Given the description of an element on the screen output the (x, y) to click on. 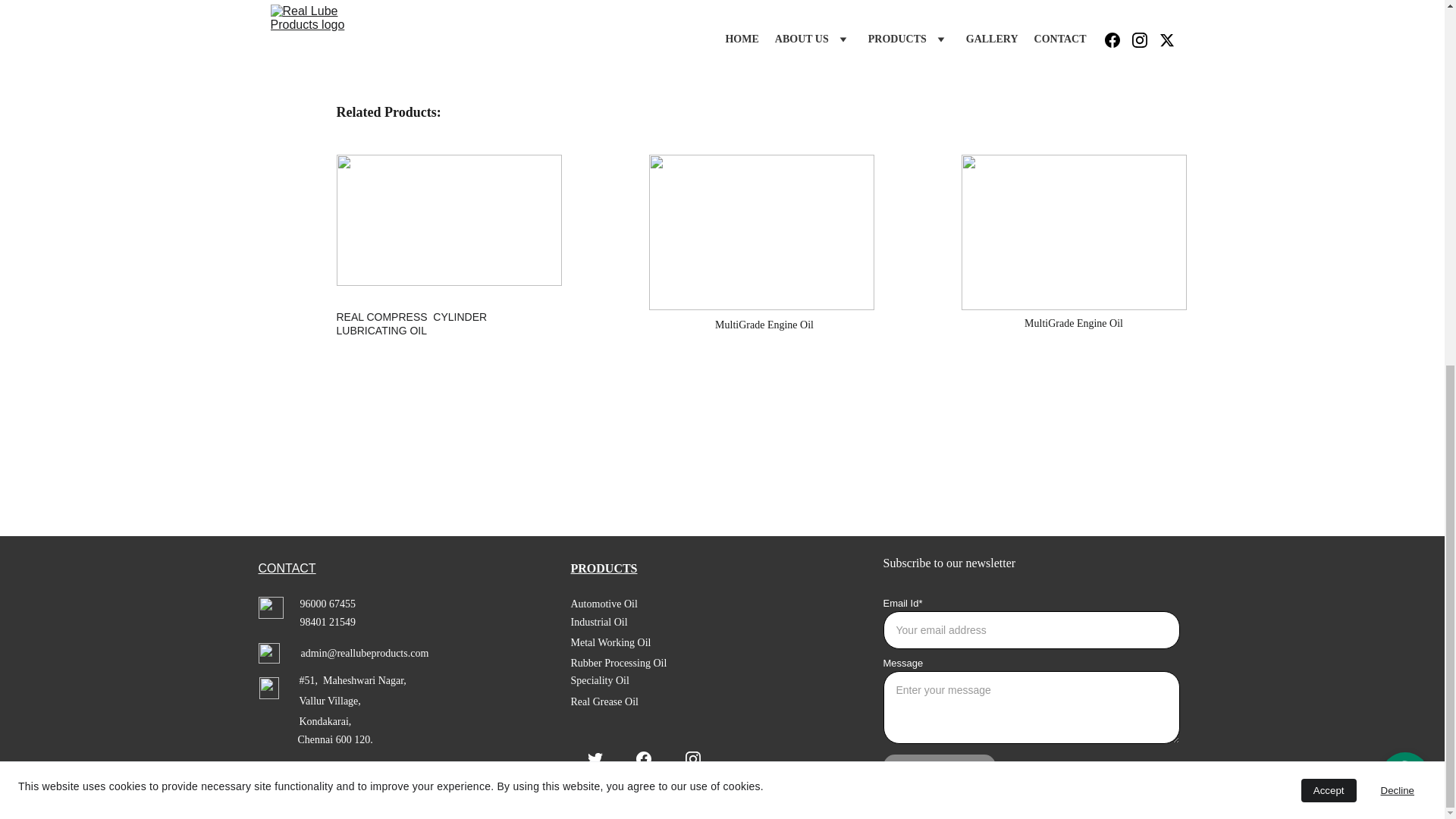
Go to Facebook page (643, 758)
Open WhatsApp (1404, 120)
Go to Instagram page (692, 758)
Go to Twitter page (595, 758)
VRMK Creators (358, 785)
SUBMIT (938, 773)
